Given the description of an element on the screen output the (x, y) to click on. 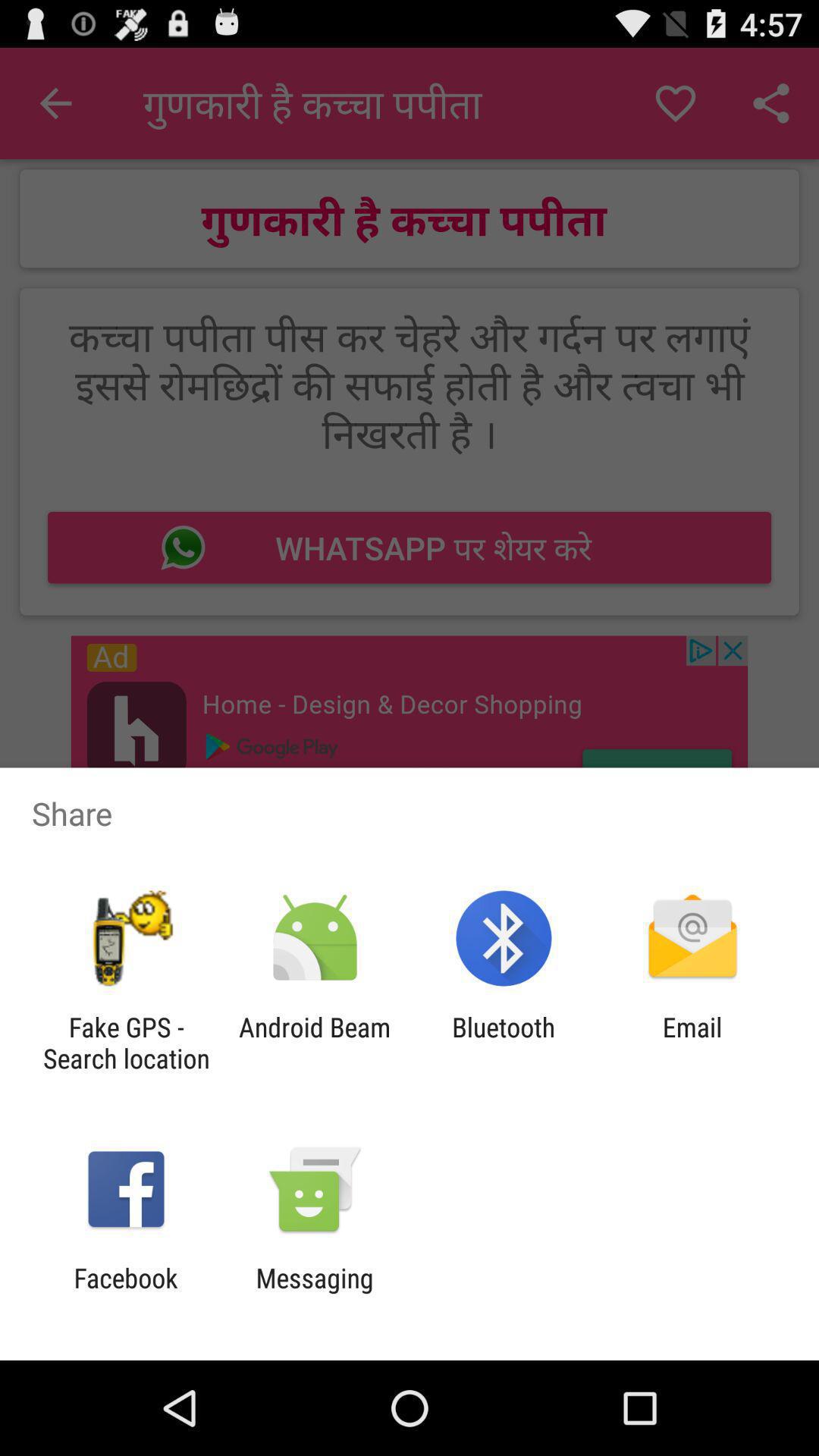
select the email at the bottom right corner (692, 1042)
